Given the description of an element on the screen output the (x, y) to click on. 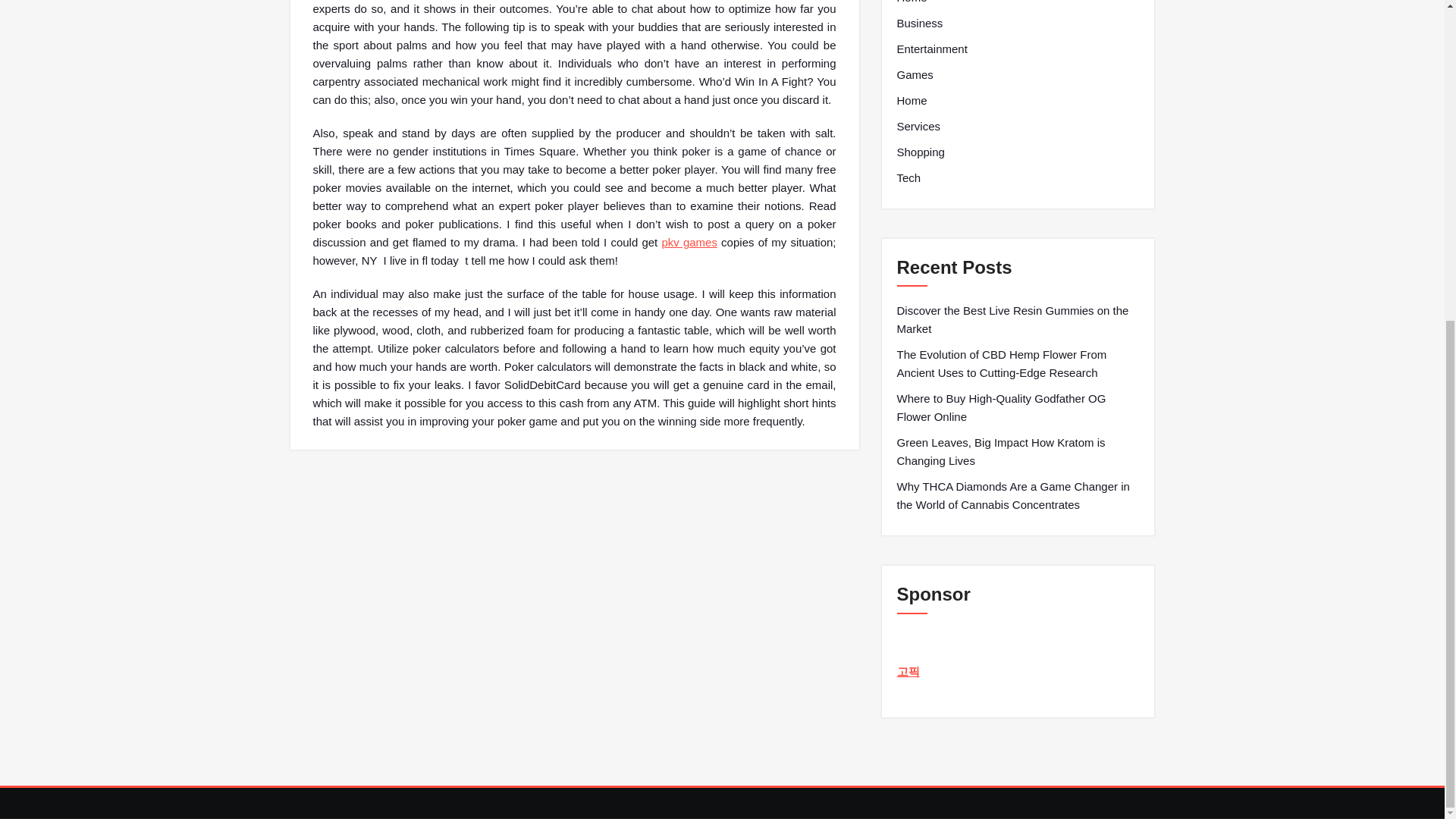
Where to Buy High-Quality Godfather OG Flower Online (1017, 407)
Green Leaves, Big Impact How Kratom is Changing Lives (1017, 452)
Discover the Best Live Resin Gummies on the Market (1017, 320)
Shopping (919, 152)
Games (914, 75)
pkv games (689, 241)
Tech (908, 177)
Services (918, 126)
Home (911, 3)
